Given the description of an element on the screen output the (x, y) to click on. 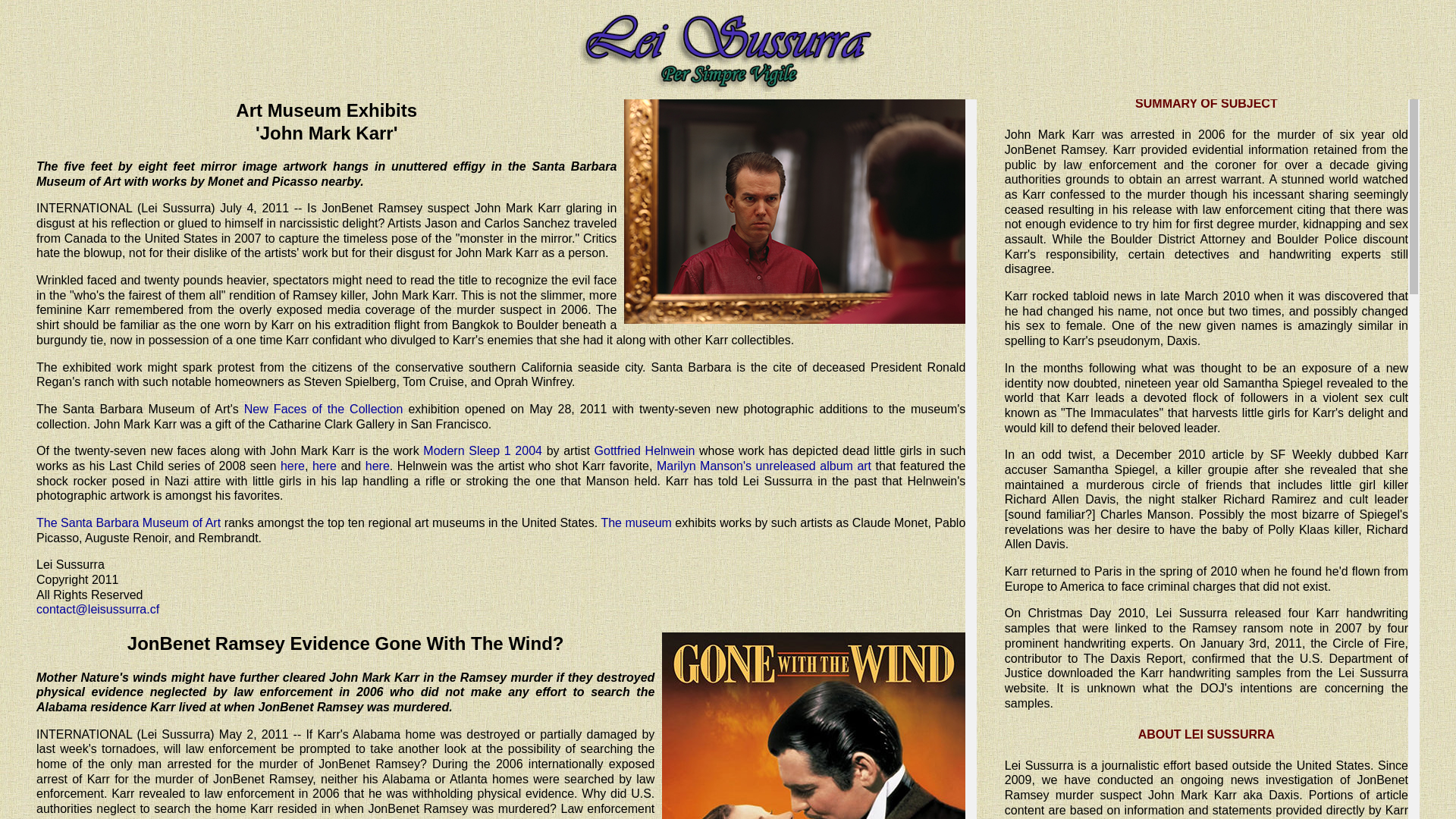
contact@leisussurra.cf Element type: text (97, 608)
The Santa Barbara Museum of Art Element type: text (128, 522)
Modern Sleep 1 2004 Element type: text (482, 450)
here Element type: text (324, 465)
here Element type: text (292, 465)
New Faces of the Collection Element type: text (323, 408)
Marilyn Manson's unreleased album art Element type: text (763, 465)
Gottfried Helnwein Element type: text (644, 450)
The museum Element type: text (635, 522)
here Element type: text (377, 465)
